Given the description of an element on the screen output the (x, y) to click on. 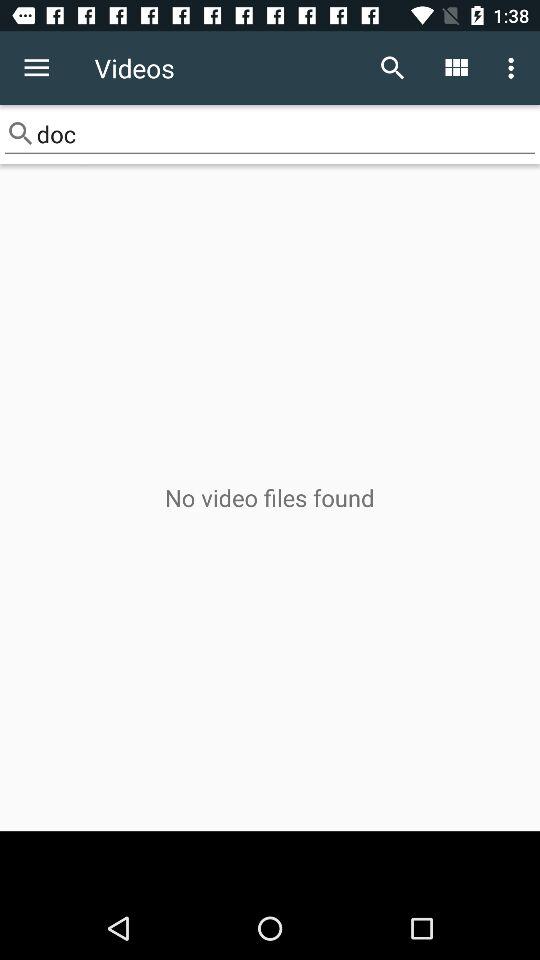
press the icon to the left of videos icon (36, 68)
